Given the description of an element on the screen output the (x, y) to click on. 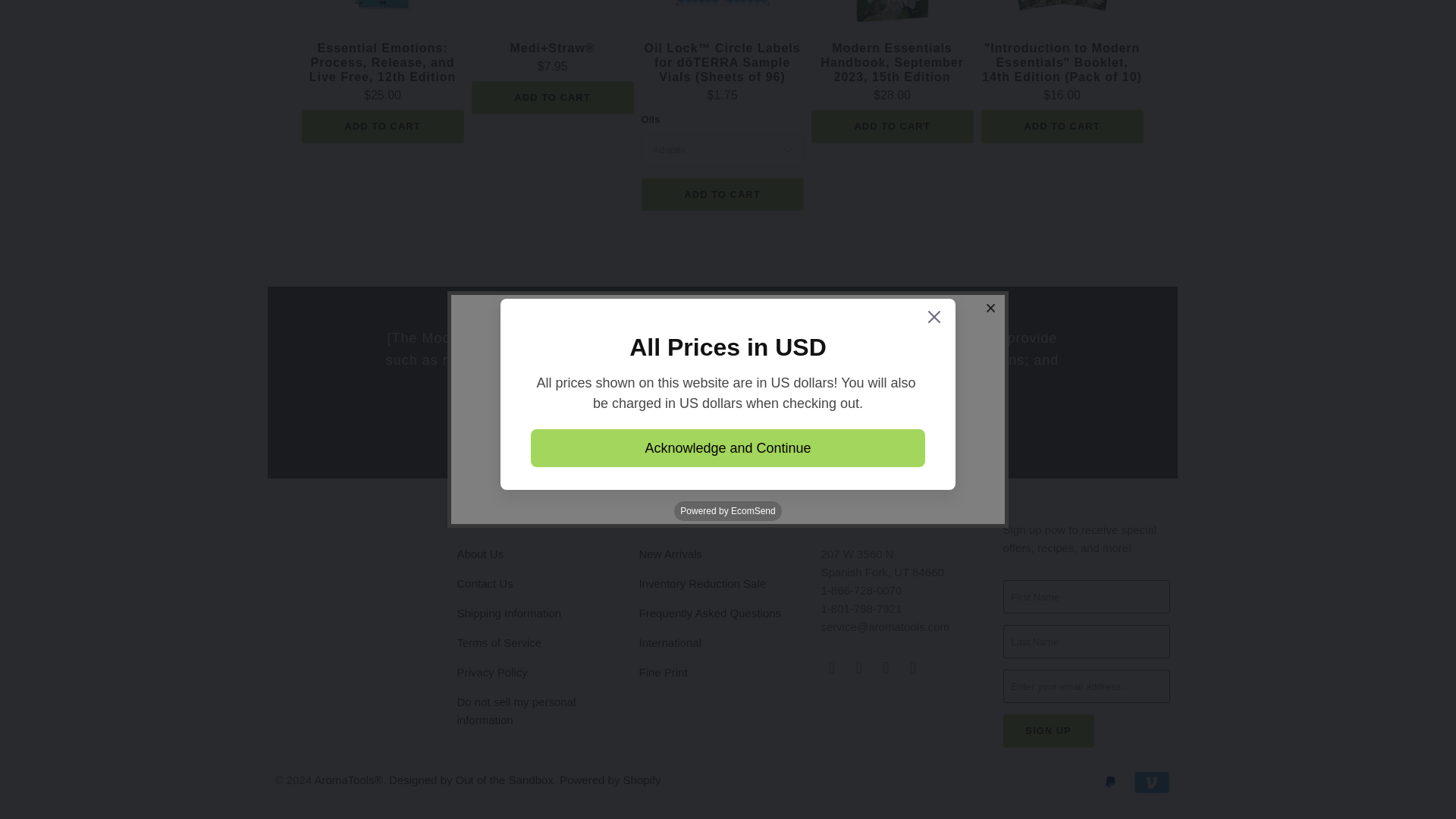
PayPal (1111, 782)
Venmo (1150, 782)
